Given the description of an element on the screen output the (x, y) to click on. 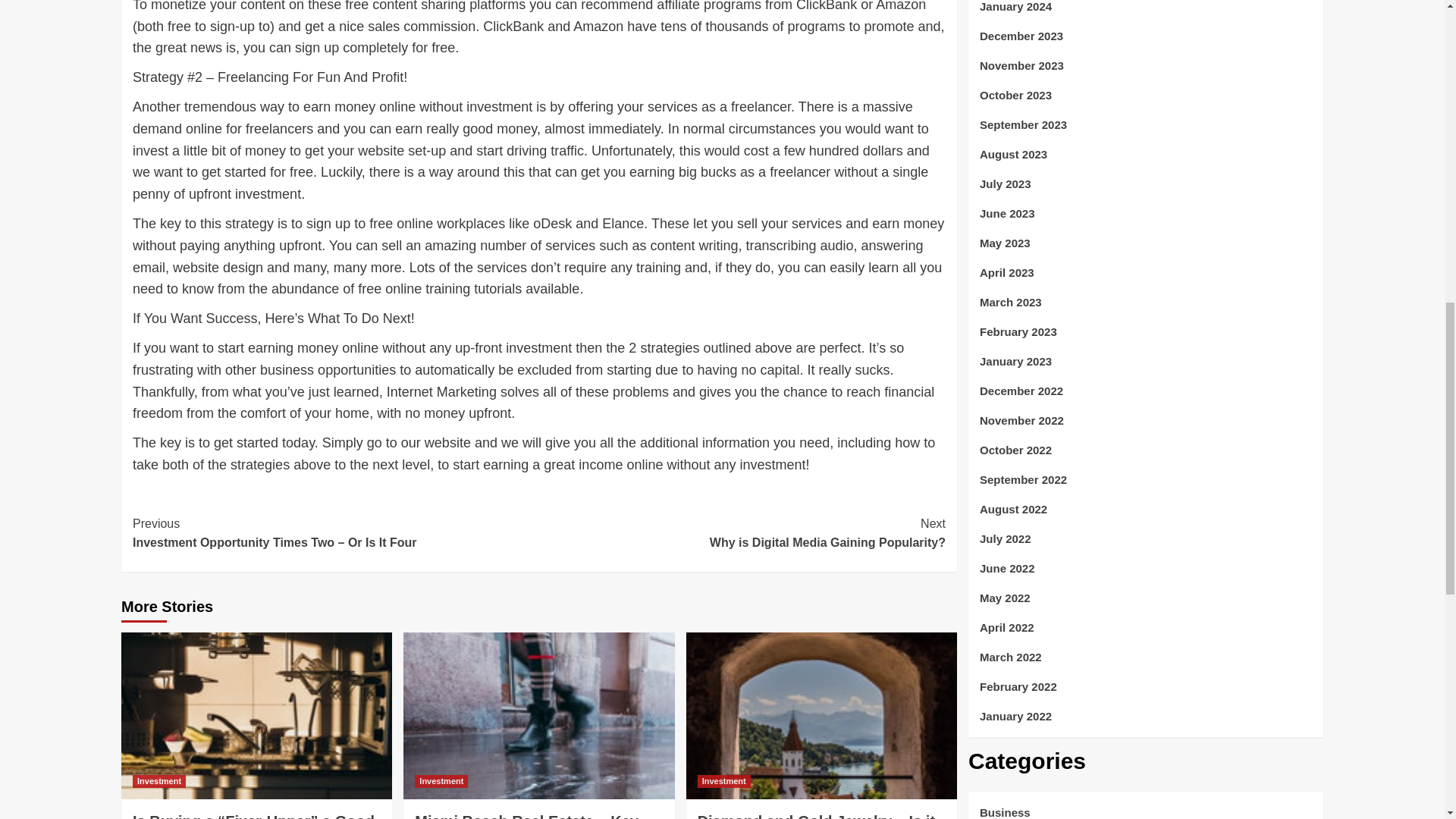
Investment (440, 780)
Investment (741, 533)
Investment (724, 780)
